Given the description of an element on the screen output the (x, y) to click on. 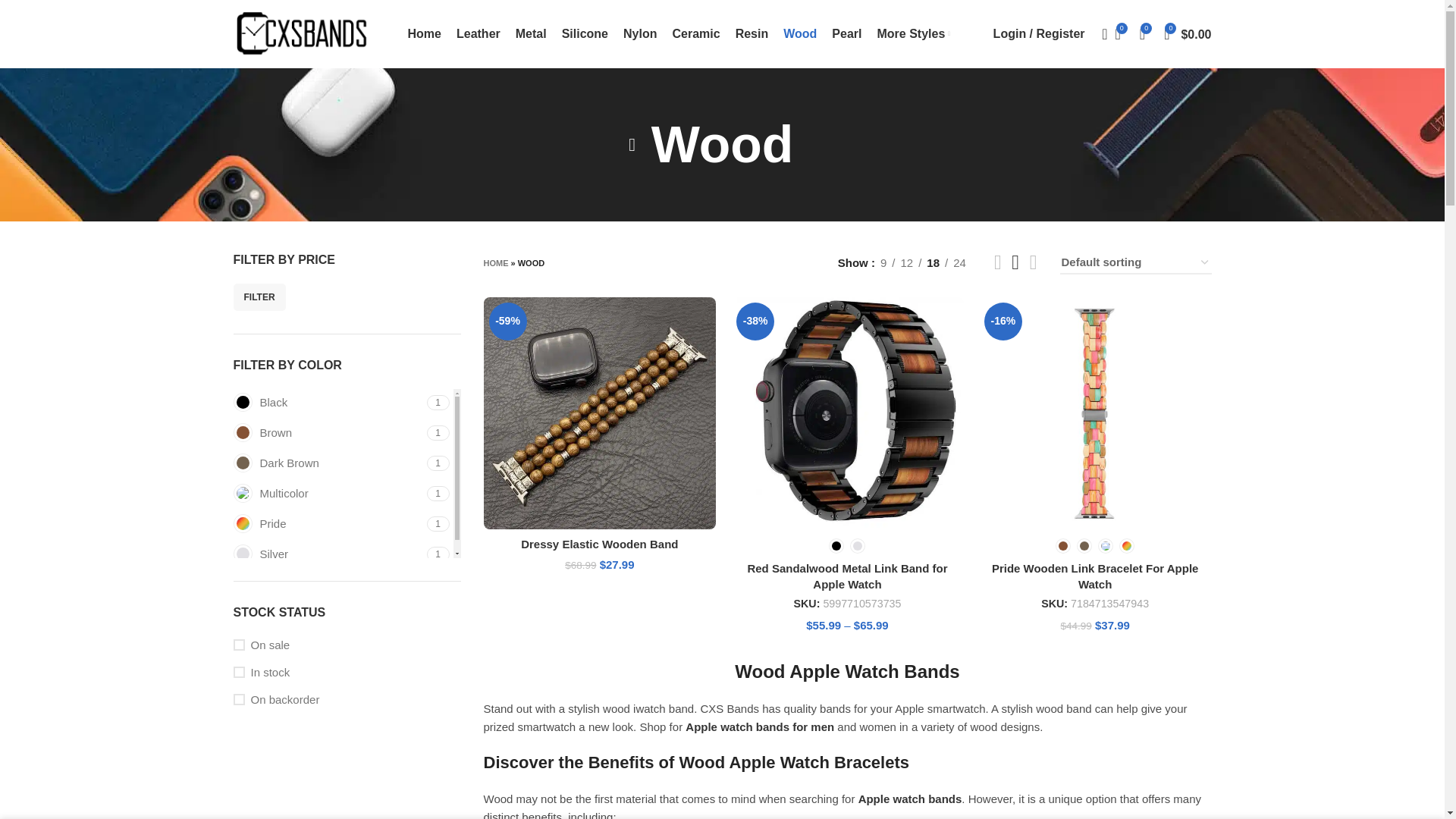
My account (1039, 33)
FILTER (258, 297)
More Styles (346, 473)
Wood (913, 33)
Resin (799, 33)
Ceramic (751, 33)
Black (695, 33)
Brown (327, 402)
